Given the description of an element on the screen output the (x, y) to click on. 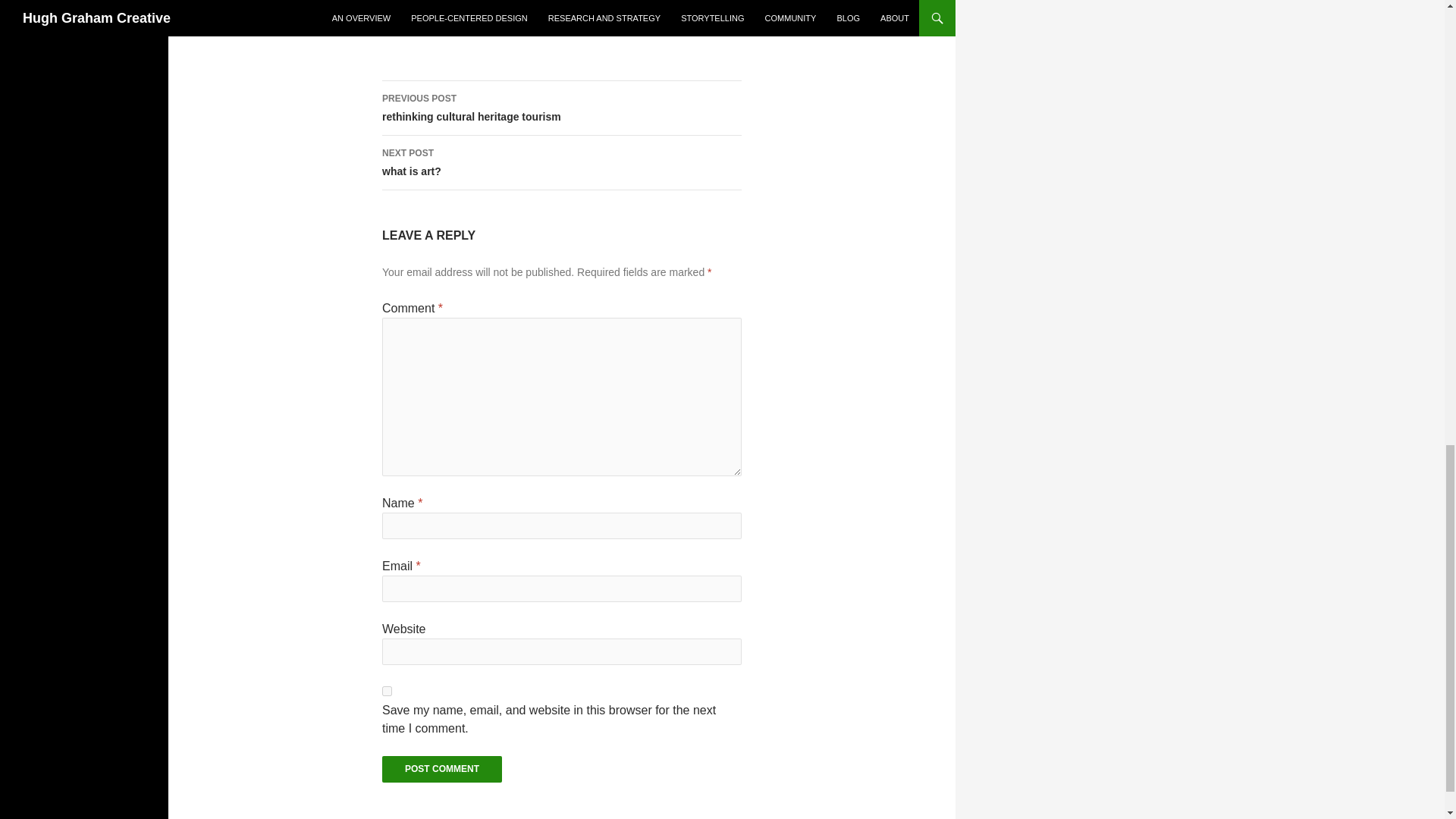
Post Comment (561, 108)
Post Comment (441, 768)
yes (441, 768)
